Given the description of an element on the screen output the (x, y) to click on. 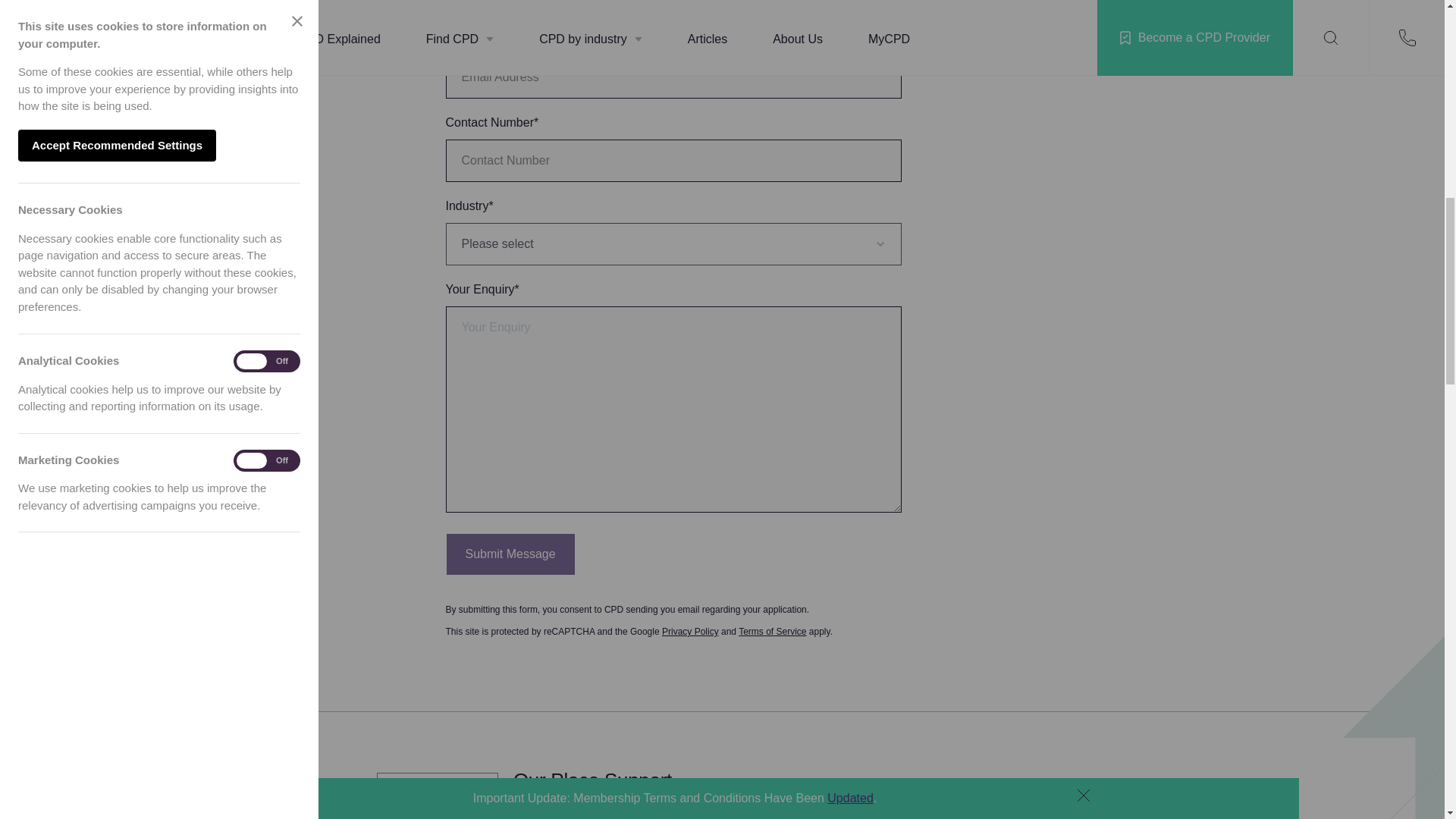
Privacy Policy (690, 631)
Terms of Service (772, 631)
Submit Message (510, 554)
